Given the description of an element on the screen output the (x, y) to click on. 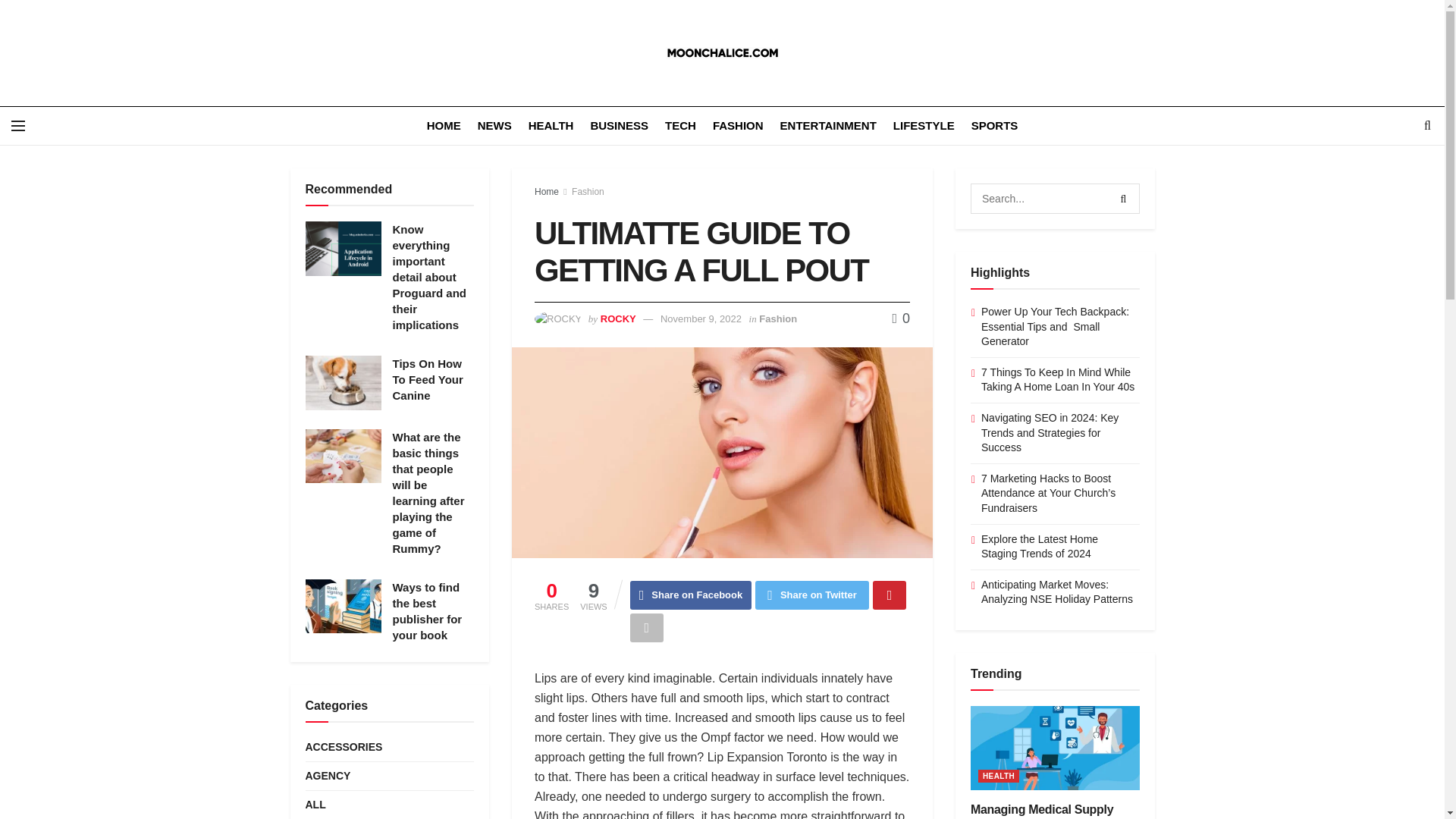
Fashion (777, 318)
NEWS (494, 125)
Fashion (588, 191)
Home (546, 191)
ENTERTAINMENT (828, 125)
0 (900, 318)
FASHION (737, 125)
TECH (680, 125)
SPORTS (994, 125)
HOME (443, 125)
